Given the description of an element on the screen output the (x, y) to click on. 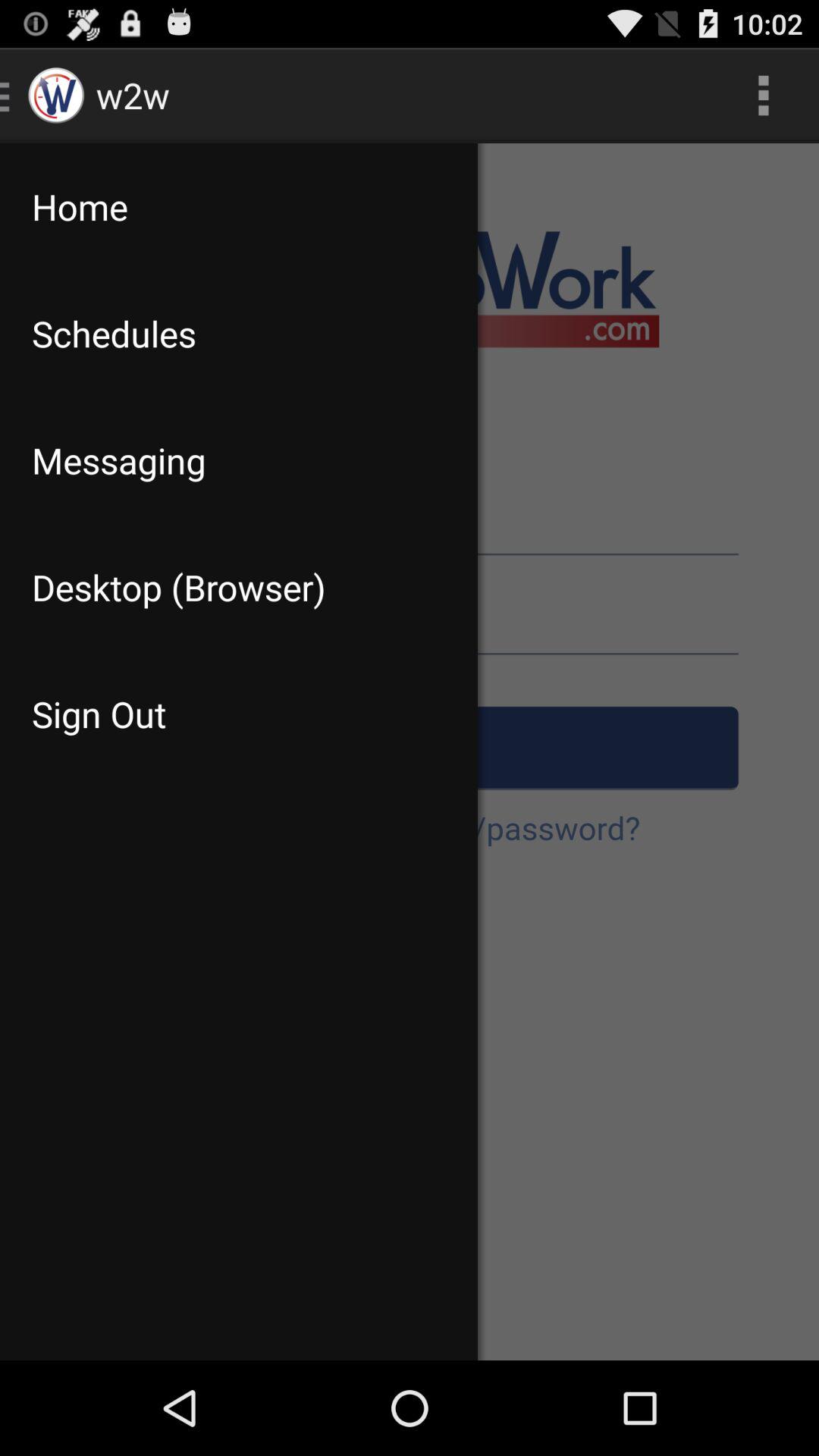
turn off app below the messaging app (238, 587)
